Given the description of an element on the screen output the (x, y) to click on. 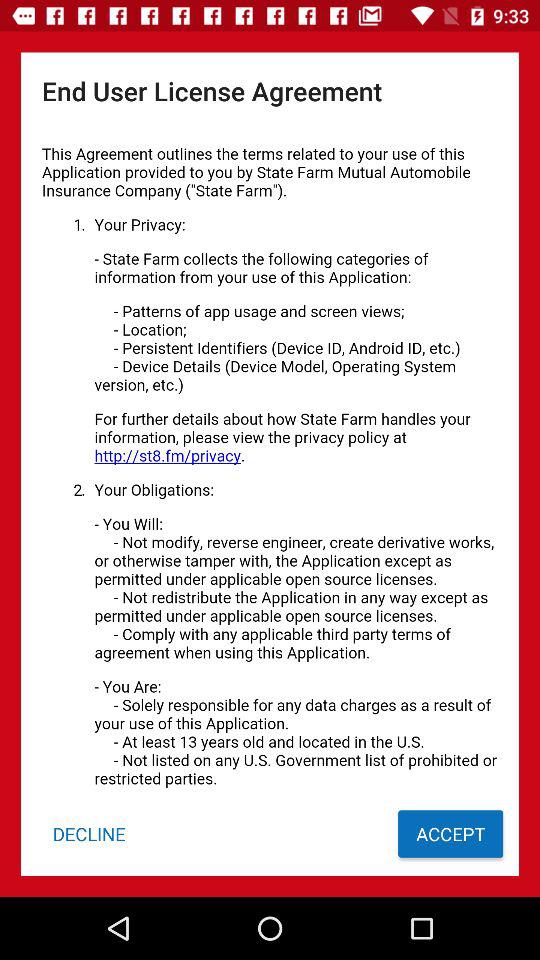
user agreement page (269, 460)
